Given the description of an element on the screen output the (x, y) to click on. 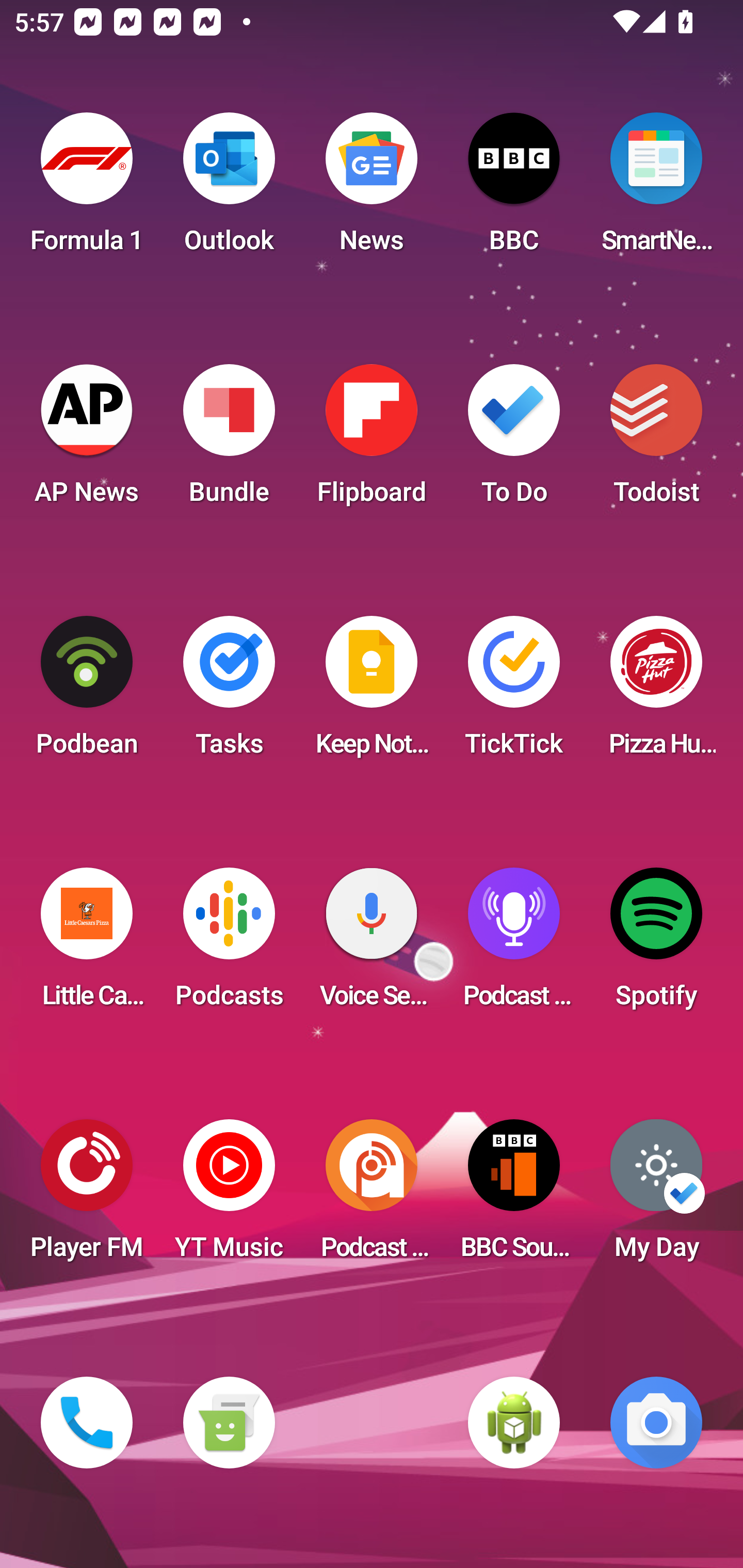
Formula 1 (86, 188)
Outlook (228, 188)
News (371, 188)
BBC (513, 188)
SmartNews (656, 188)
AP News (86, 440)
Bundle (228, 440)
Flipboard (371, 440)
To Do (513, 440)
Todoist (656, 440)
Podbean (86, 692)
Tasks (228, 692)
Keep Notes (371, 692)
TickTick (513, 692)
Pizza Hut HK & Macau (656, 692)
Little Caesars Pizza (86, 943)
Podcasts (228, 943)
Voice Search (371, 943)
Podcast Player (513, 943)
Spotify (656, 943)
Player FM (86, 1195)
YT Music (228, 1195)
Podcast Addict (371, 1195)
BBC Sounds (513, 1195)
My Day (656, 1195)
Phone (86, 1422)
Messaging (228, 1422)
WebView Browser Tester (513, 1422)
Camera (656, 1422)
